Given the description of an element on the screen output the (x, y) to click on. 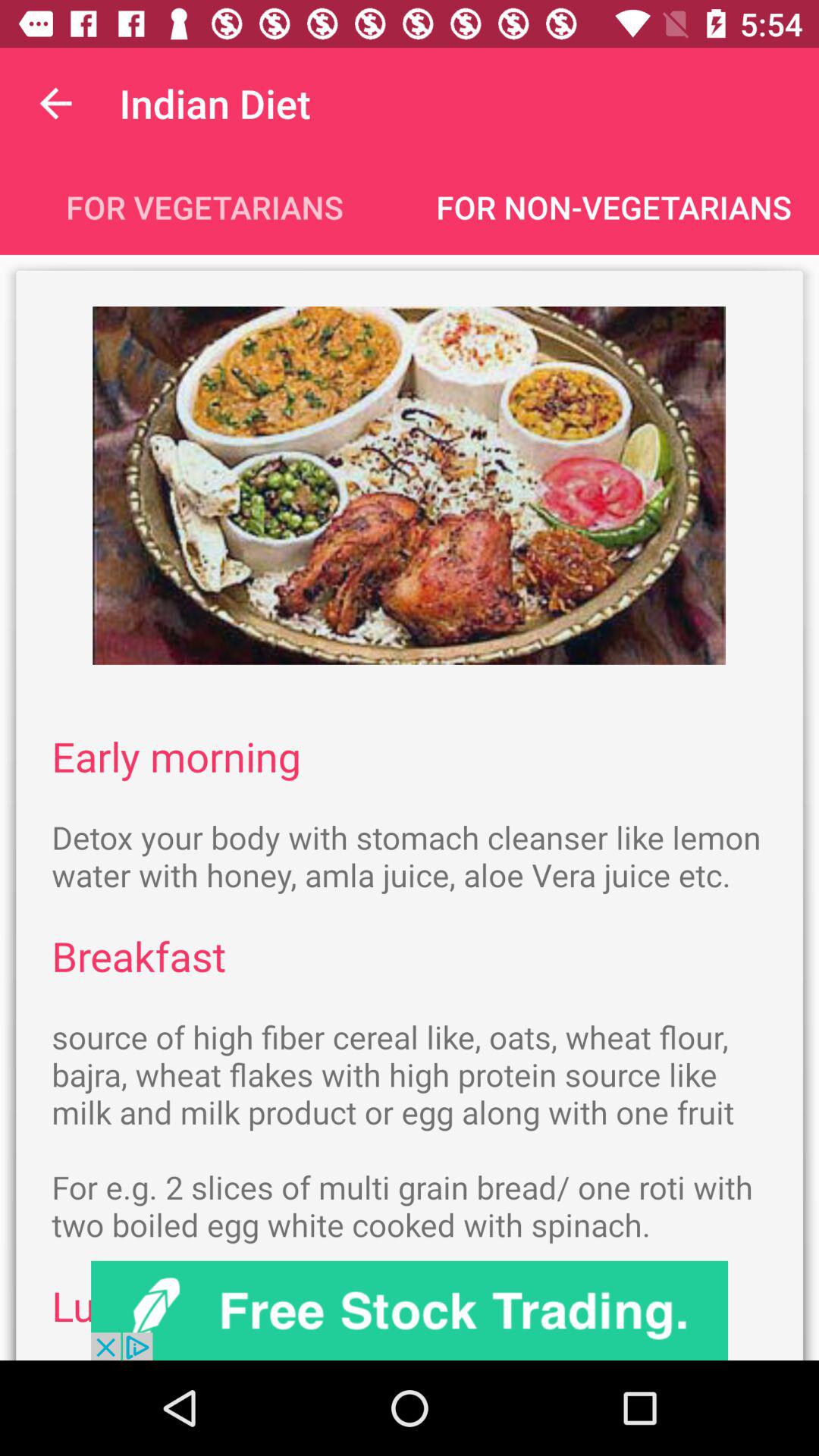
click advertisement (409, 1310)
